Given the description of an element on the screen output the (x, y) to click on. 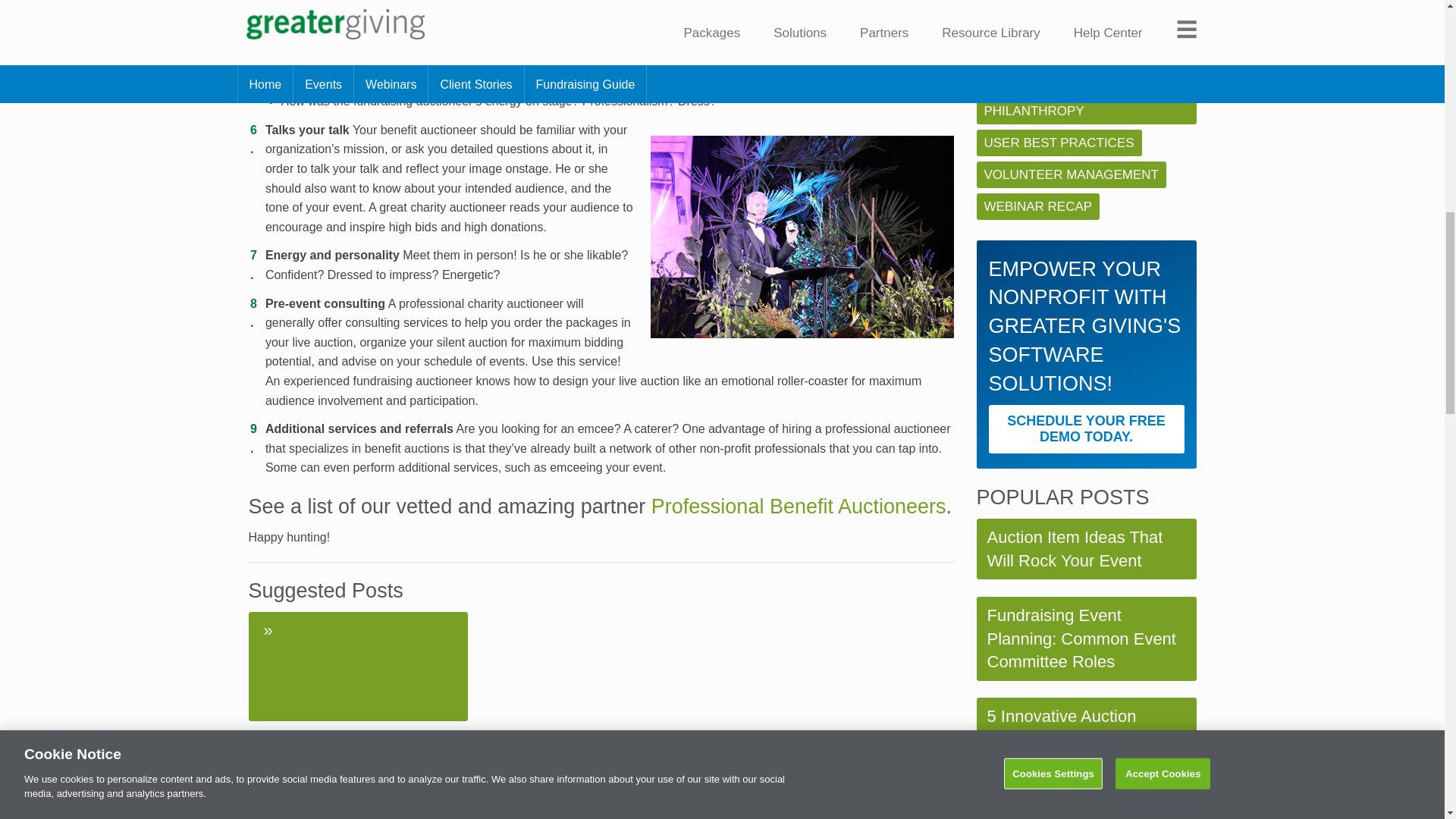
Greater Giving Professional Benefit Auctioneer Partners (798, 506)
